Given the description of an element on the screen output the (x, y) to click on. 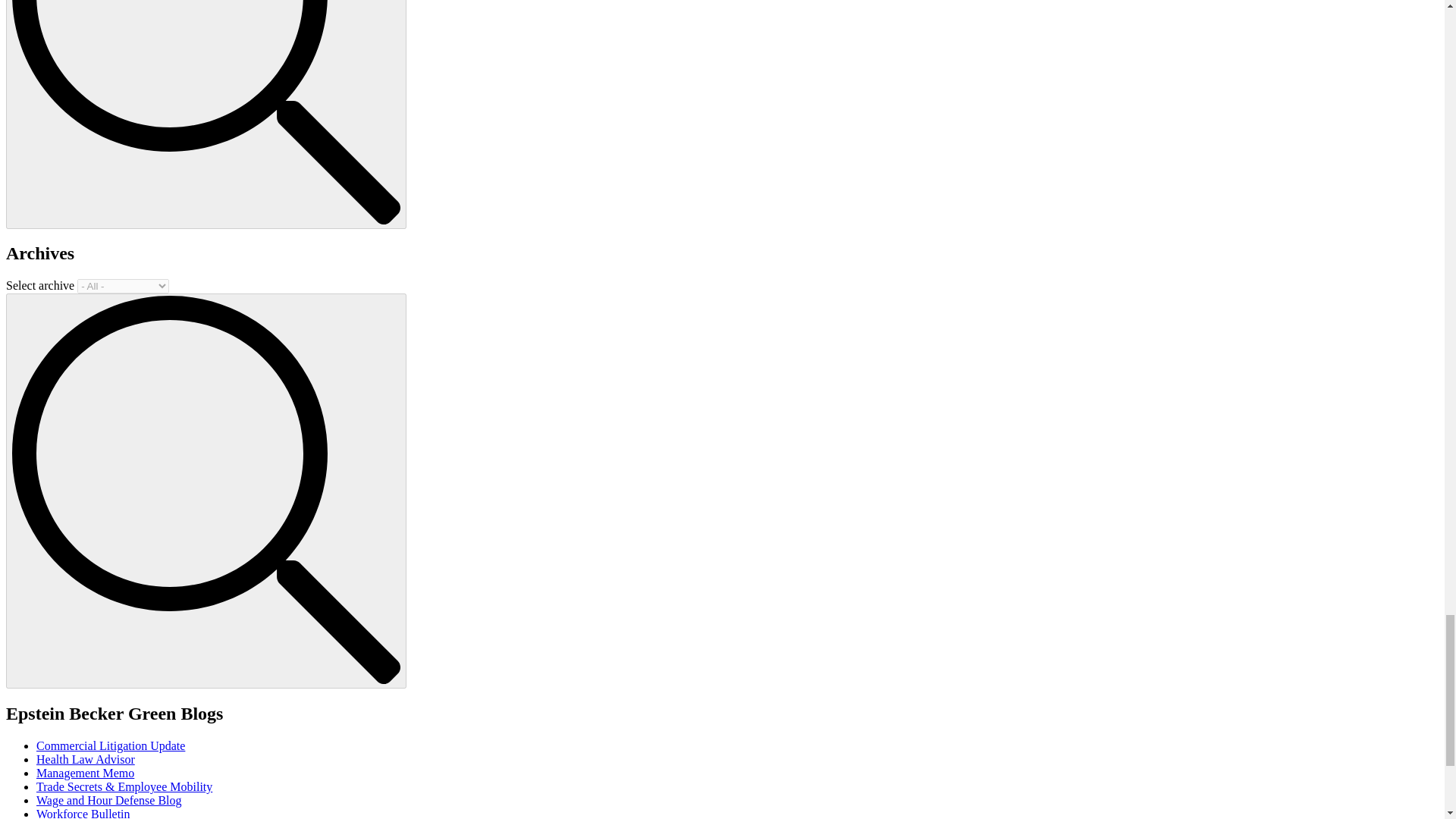
Search (205, 112)
